Given the description of an element on the screen output the (x, y) to click on. 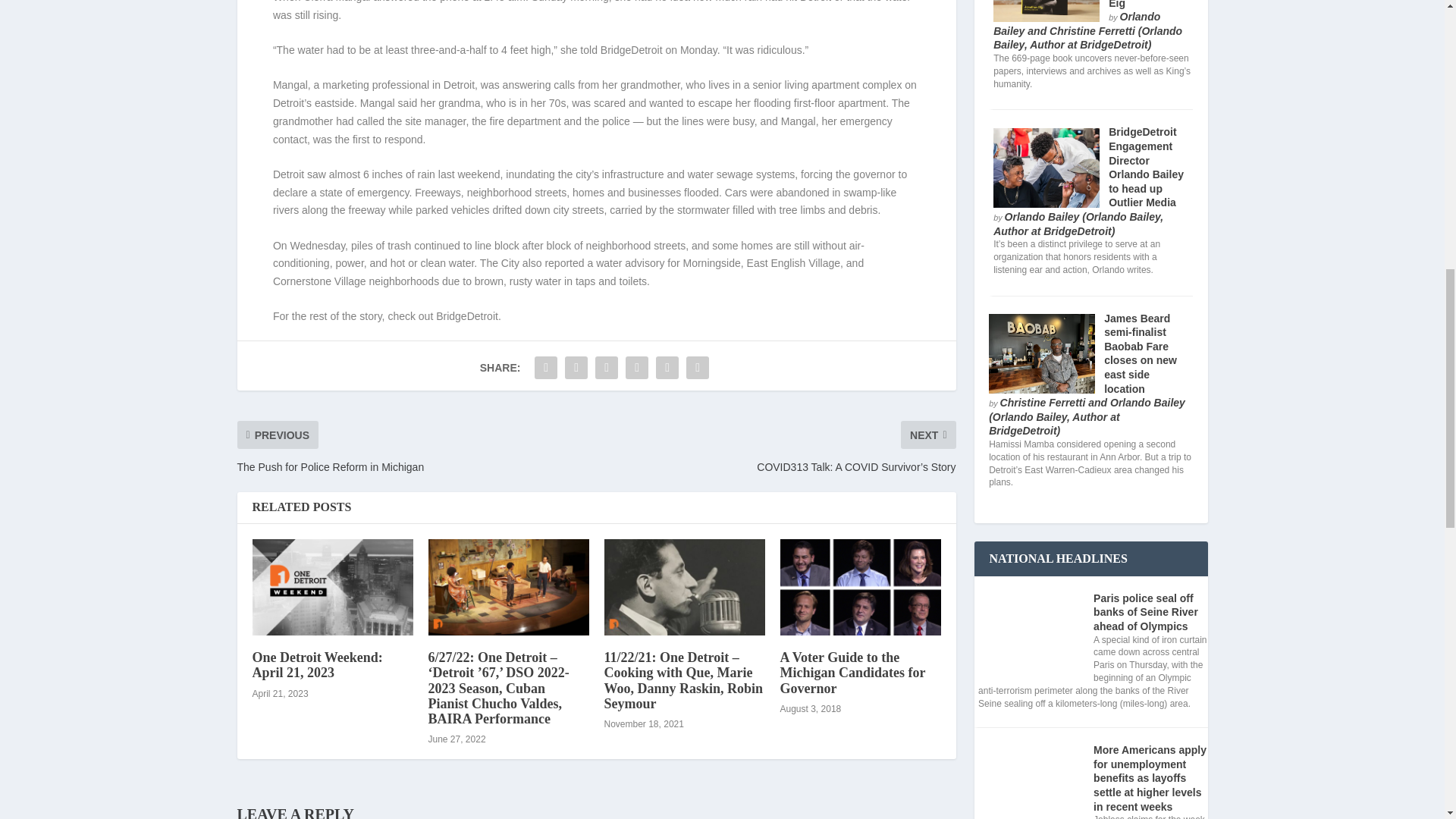
A Voter Guide to the Michigan Candidates for Governor (859, 586)
One Detroit Weekend: April 21, 2023 (331, 586)
